Given the description of an element on the screen output the (x, y) to click on. 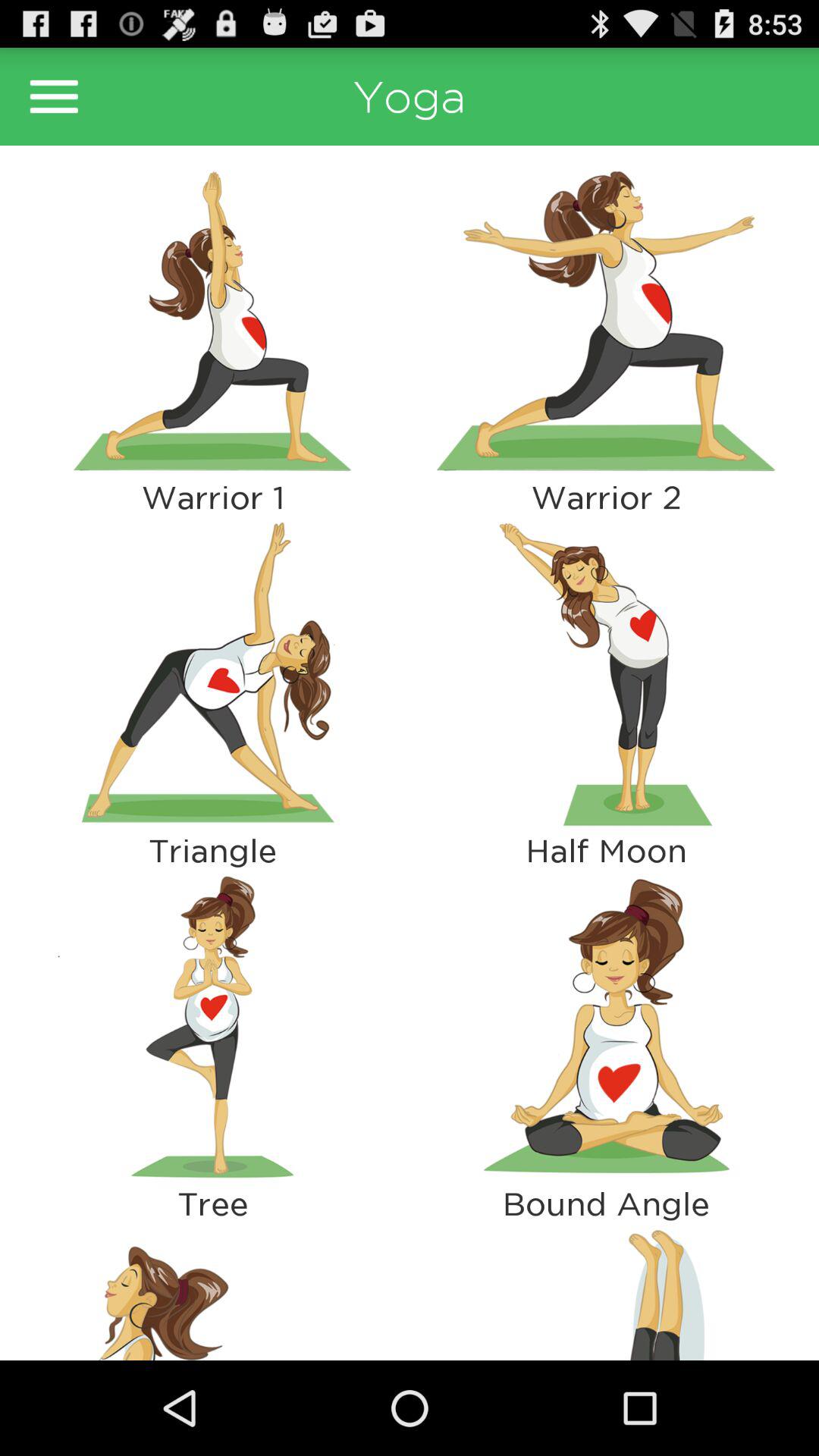
click item next to yoga icon (53, 96)
